Given the description of an element on the screen output the (x, y) to click on. 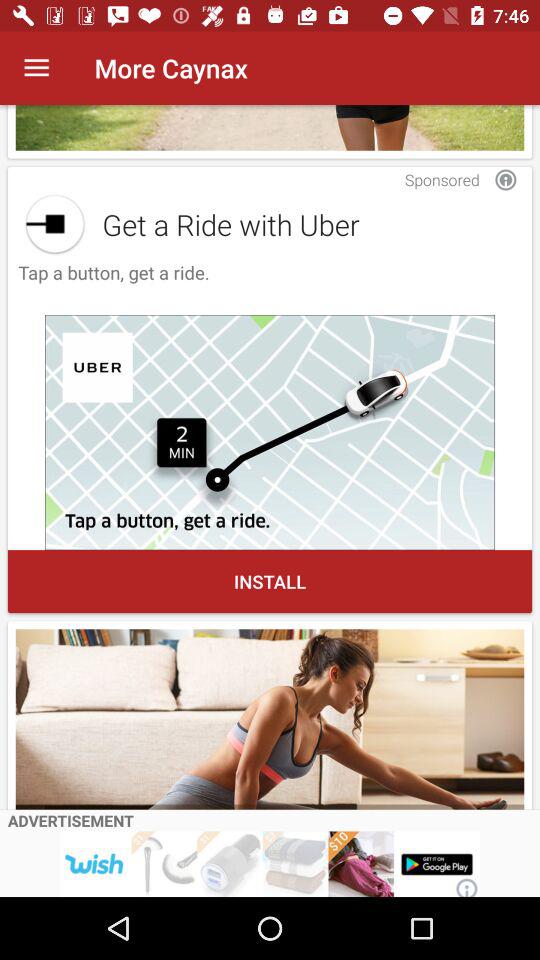
open advertisement (270, 864)
